Given the description of an element on the screen output the (x, y) to click on. 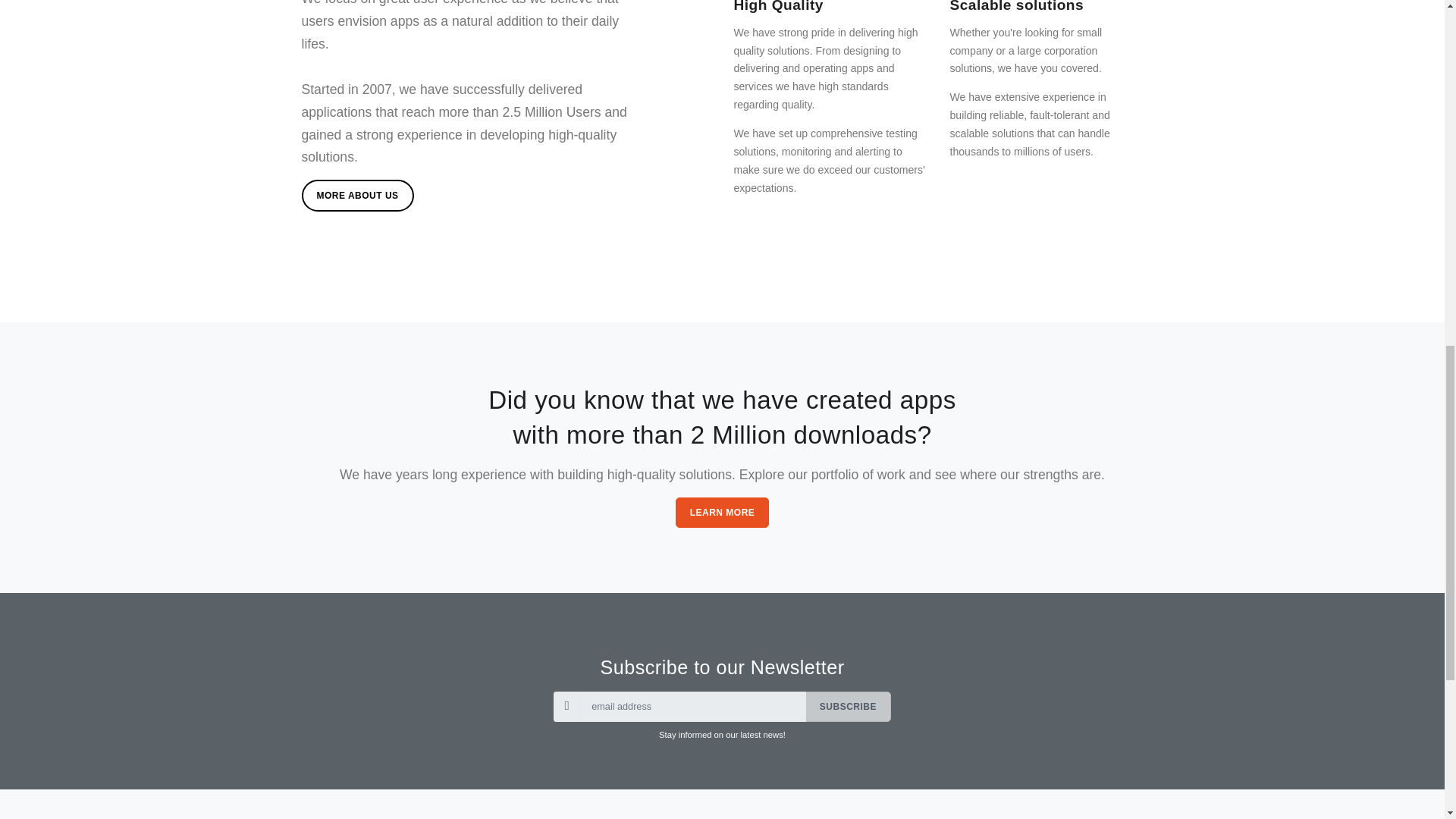
Subscribe (848, 706)
